Given the description of an element on the screen output the (x, y) to click on. 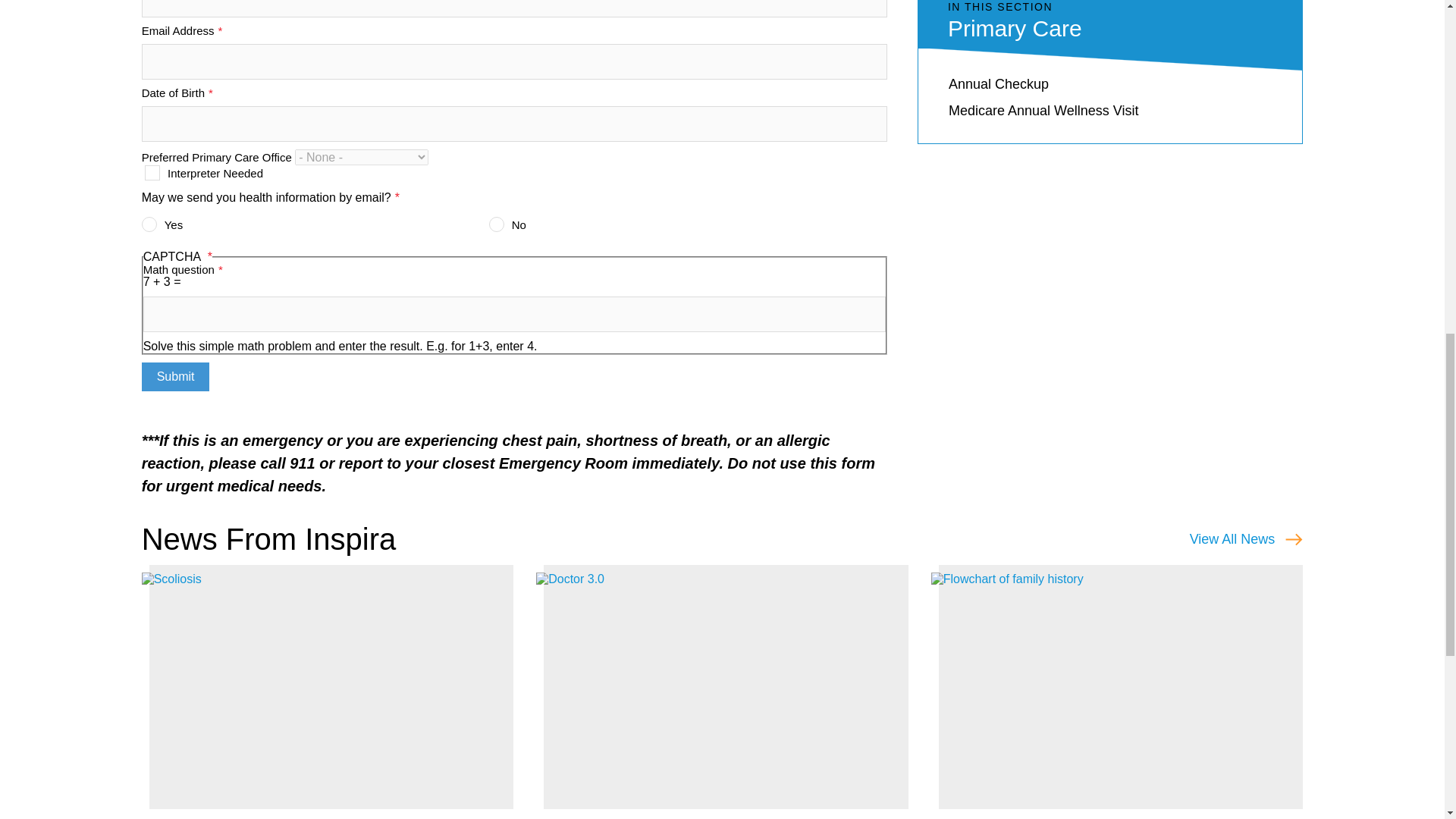
Submit (175, 376)
Primary Care (1014, 27)
View All News (1246, 538)
Annual Checkup (998, 83)
Medicare Annual Wellness Visit (1043, 110)
Submit (175, 376)
